Given the description of an element on the screen output the (x, y) to click on. 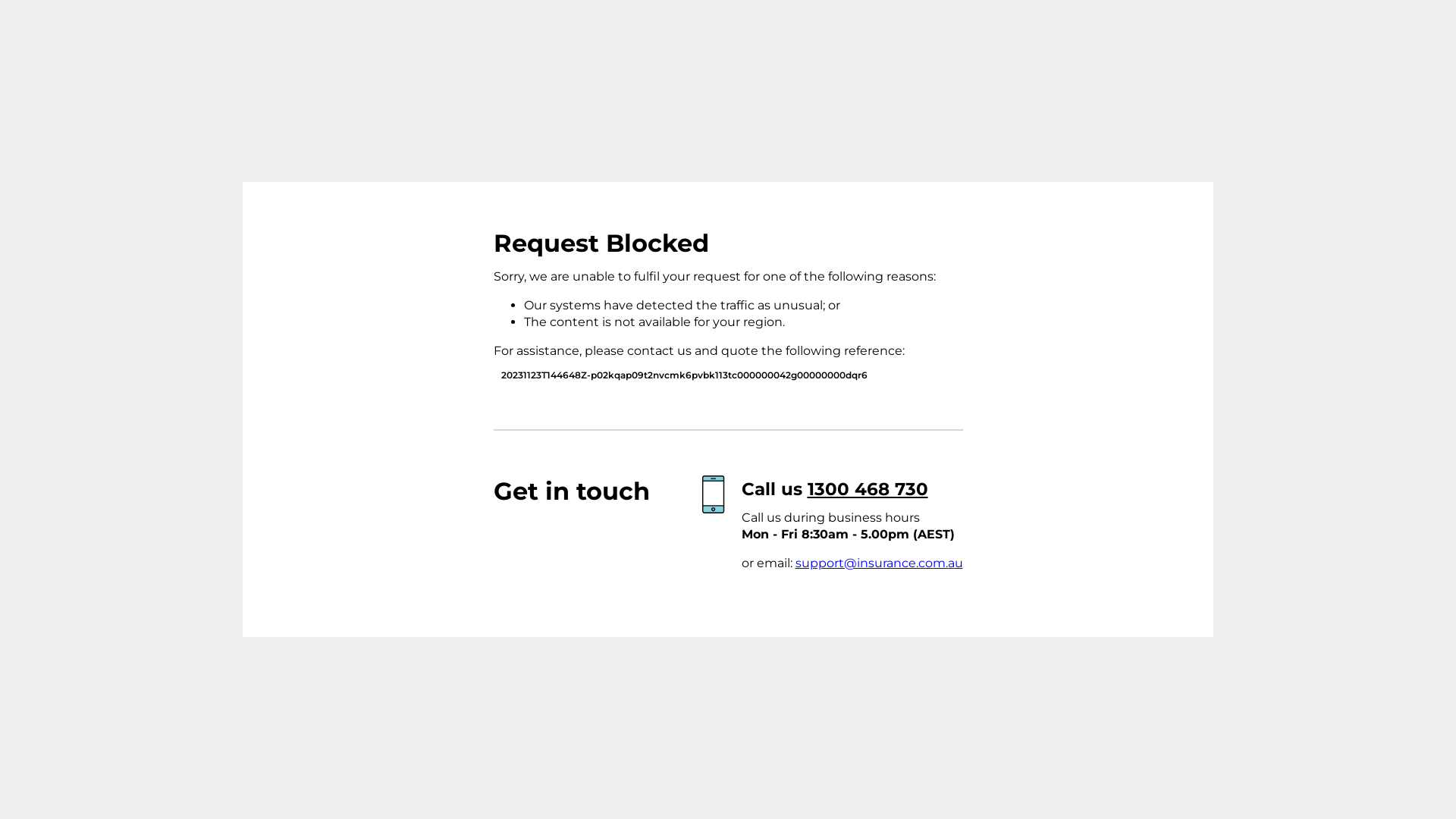
Insurance.com.au Element type: text (383, 273)
support@insurance.com.au Element type: text (878, 562)
1300 468 730 Element type: text (866, 488)
